Given the description of an element on the screen output the (x, y) to click on. 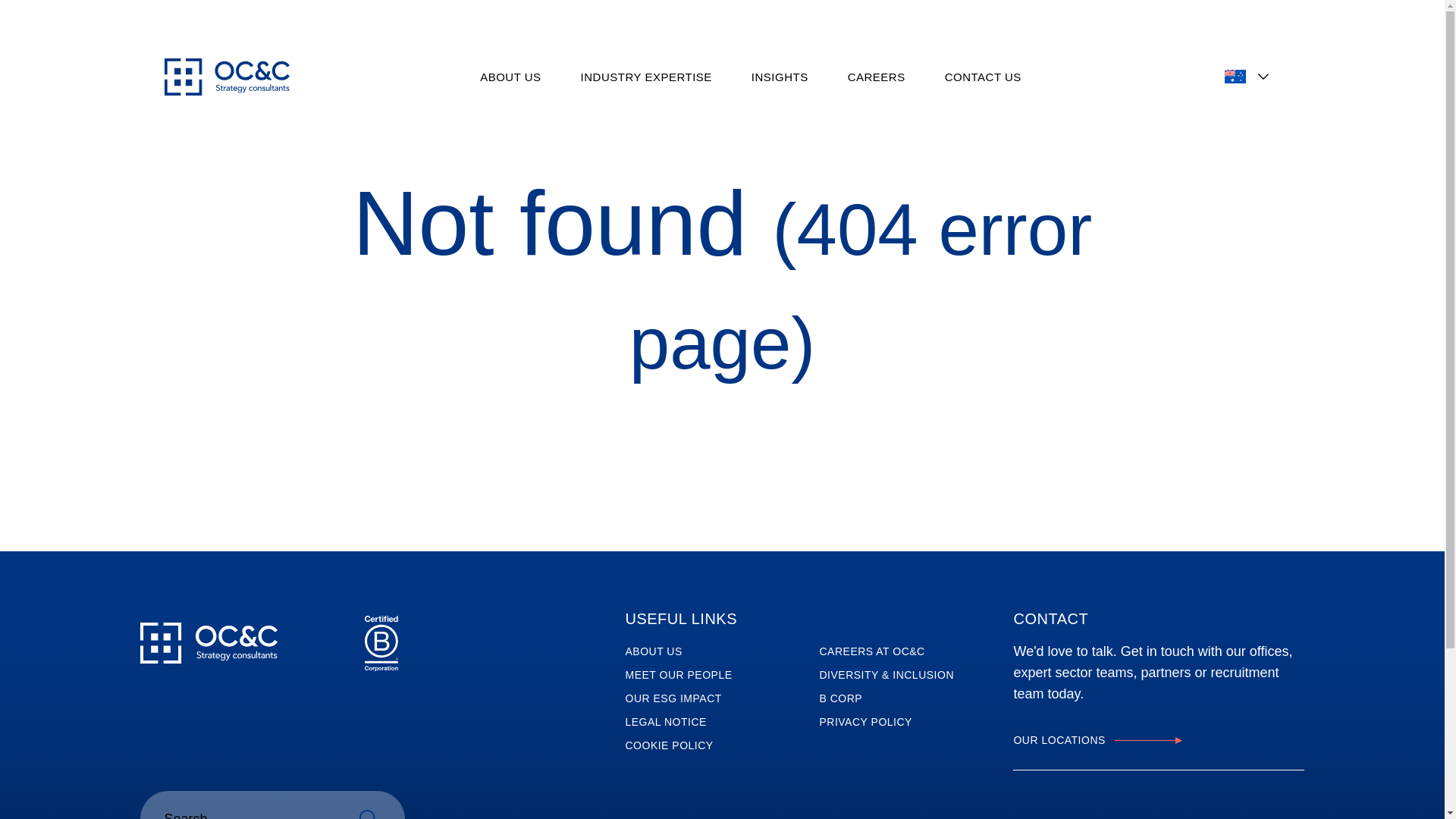
INSIGHTS (779, 76)
CAREERS (876, 76)
Search (367, 805)
ABOUT US (509, 76)
INDUSTRY EXPERTISE (646, 76)
CONTACT US (983, 76)
Search (367, 805)
